Given the description of an element on the screen output the (x, y) to click on. 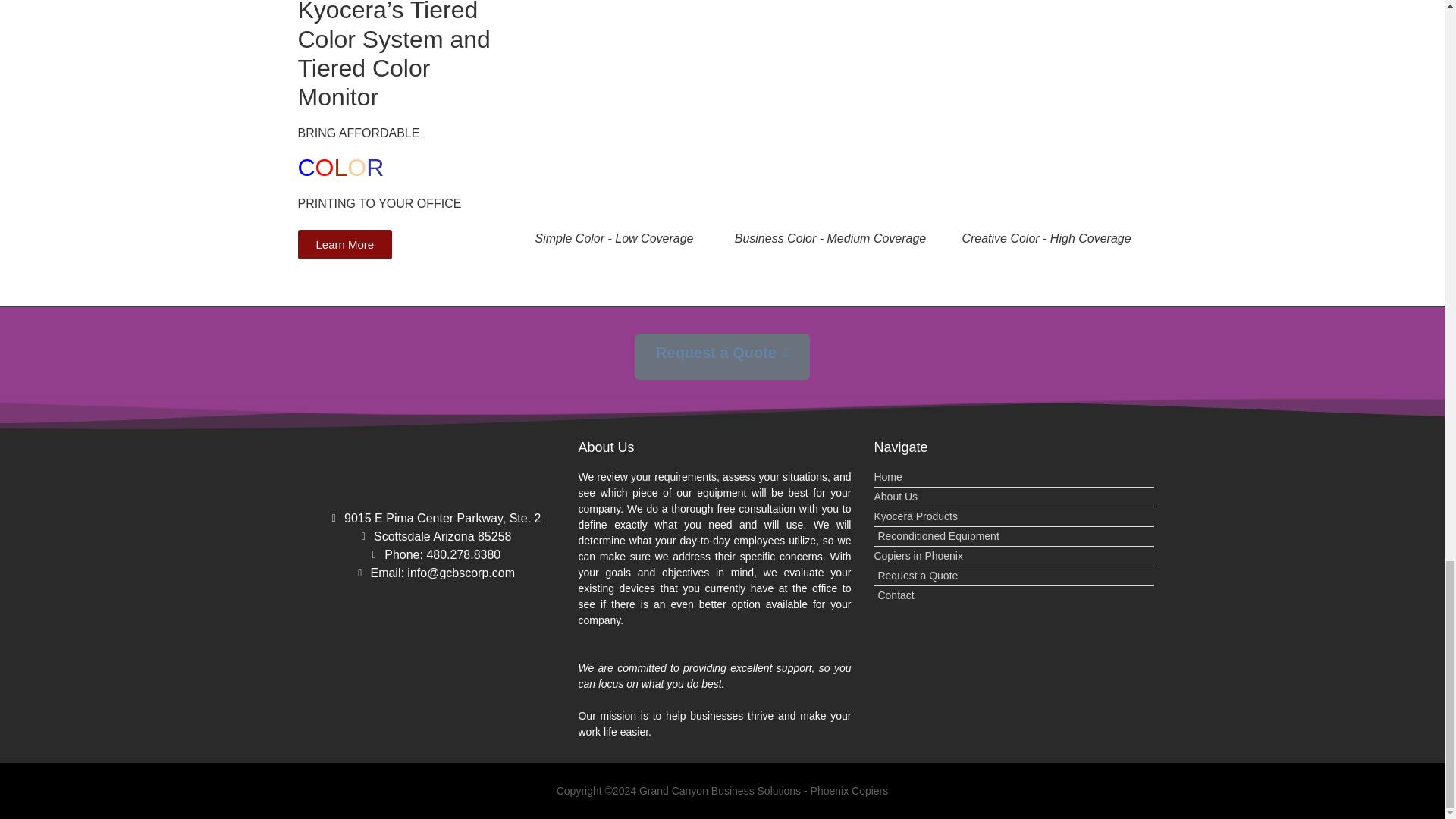
Scottsdale Arizona 85258 (433, 536)
Kyocera Products (1013, 516)
Reconditioned Equipment (1013, 536)
Request a Quote (721, 356)
Phone: 480.278.8380 (433, 555)
Request a Quote (1013, 575)
About Us (1013, 496)
Learn More (344, 244)
Contact (1013, 595)
Copiers in Phoenix (1013, 555)
9015 E Pima Center Parkway, Ste. 2 (433, 518)
Home (1013, 477)
